Given the description of an element on the screen output the (x, y) to click on. 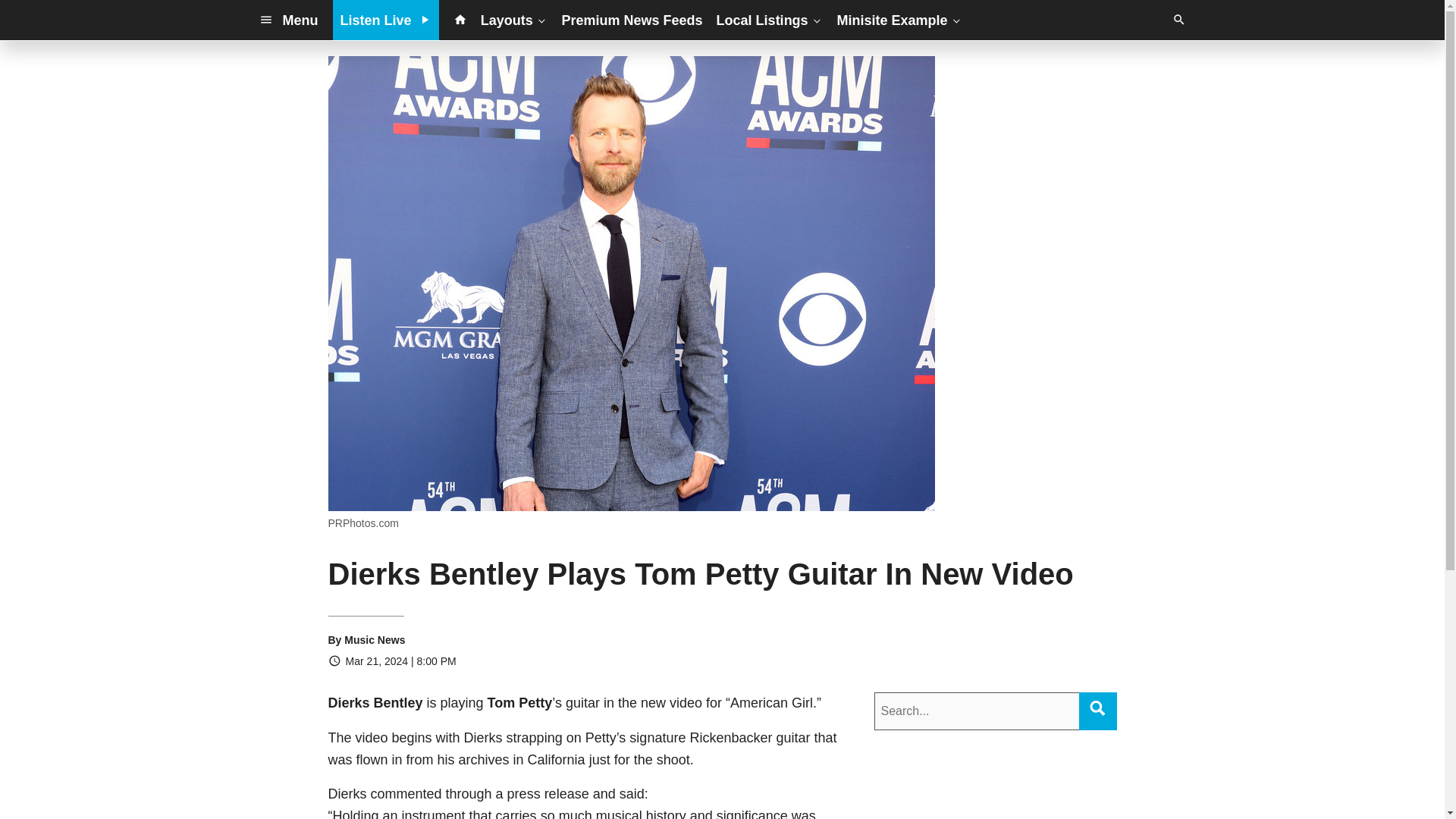
Layouts (514, 19)
Search (1097, 708)
Minisite Example (899, 19)
Listen Live (386, 20)
Premium News Feeds (632, 19)
Local Listings (769, 19)
Menu (287, 19)
